Given the description of an element on the screen output the (x, y) to click on. 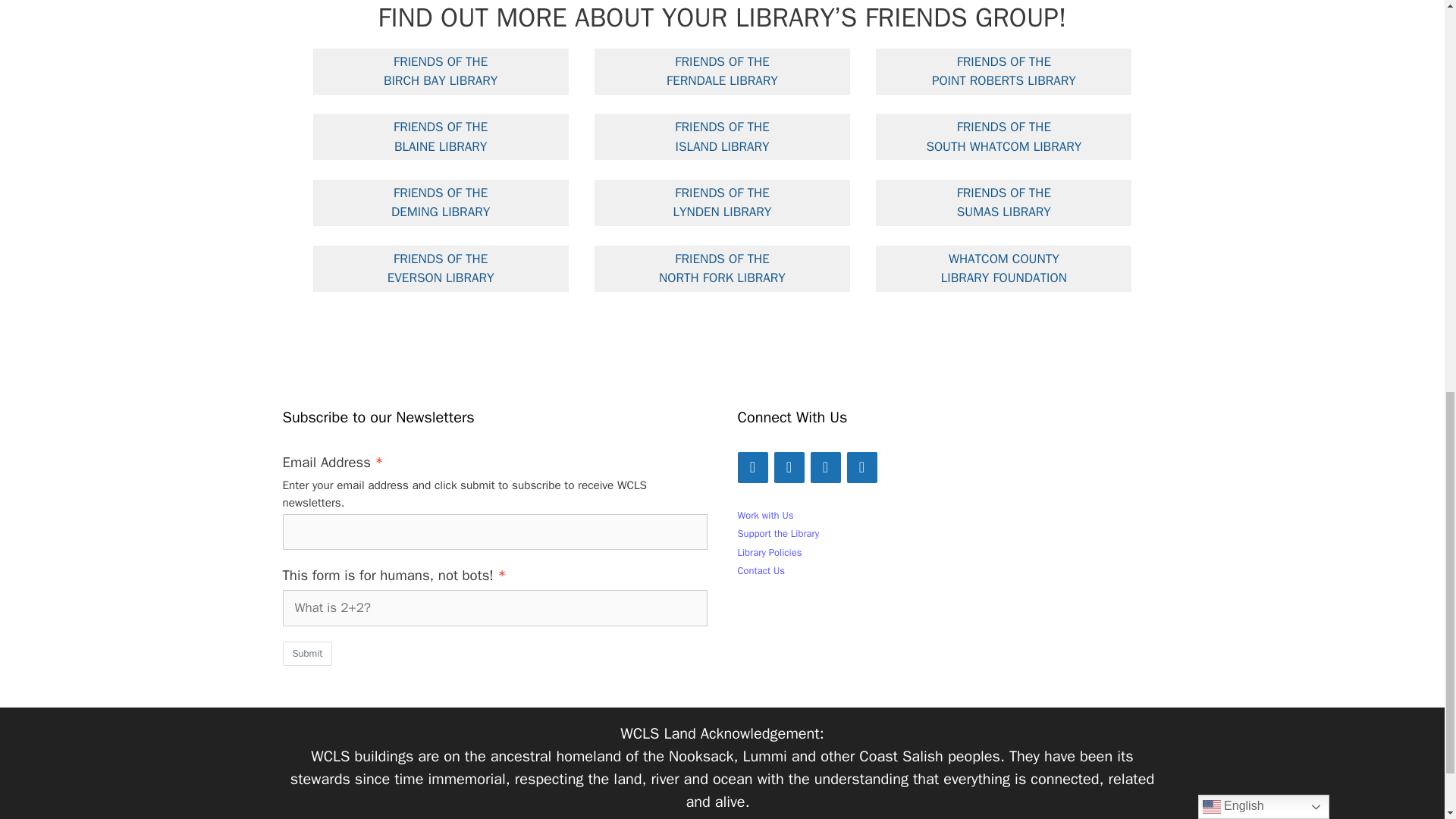
Facebook (751, 467)
Instagram (788, 467)
RSS (860, 467)
YouTube (824, 467)
